Given the description of an element on the screen output the (x, y) to click on. 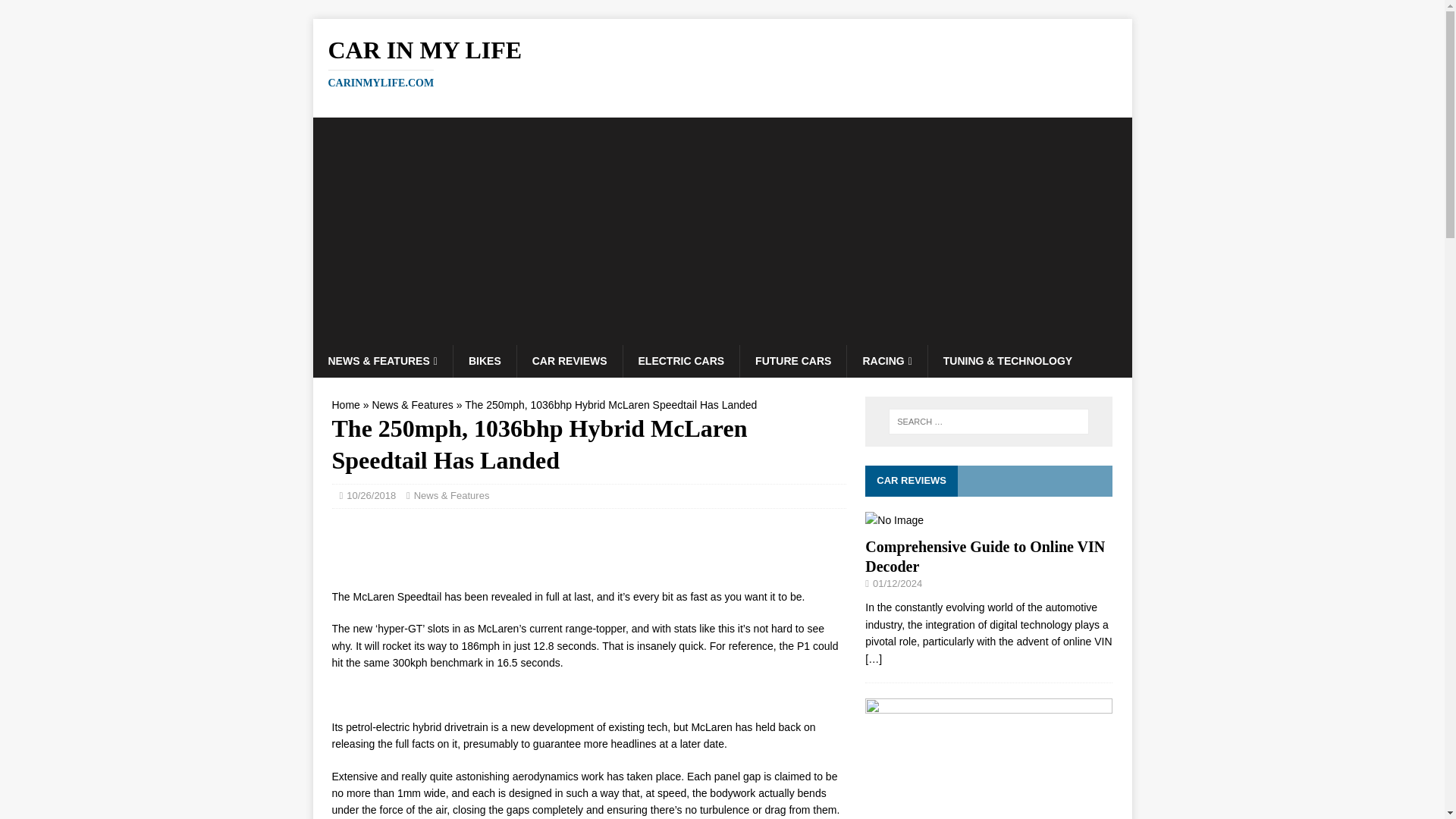
BIKES (484, 360)
ELECTRIC CARS (681, 360)
Search (56, 11)
Comprehensive Guide to Online VIN Decoder (873, 658)
Comprehensive Guide to Online VIN Decoder (984, 556)
CAR REVIEWS (569, 360)
Car in My Life (721, 62)
Advertisement (721, 62)
Comprehensive Guide to Online VIN Decoder (345, 404)
RACING (984, 556)
Comprehensive Guide to Online VIN Decoder (885, 360)
FUTURE CARS (893, 520)
